Given the description of an element on the screen output the (x, y) to click on. 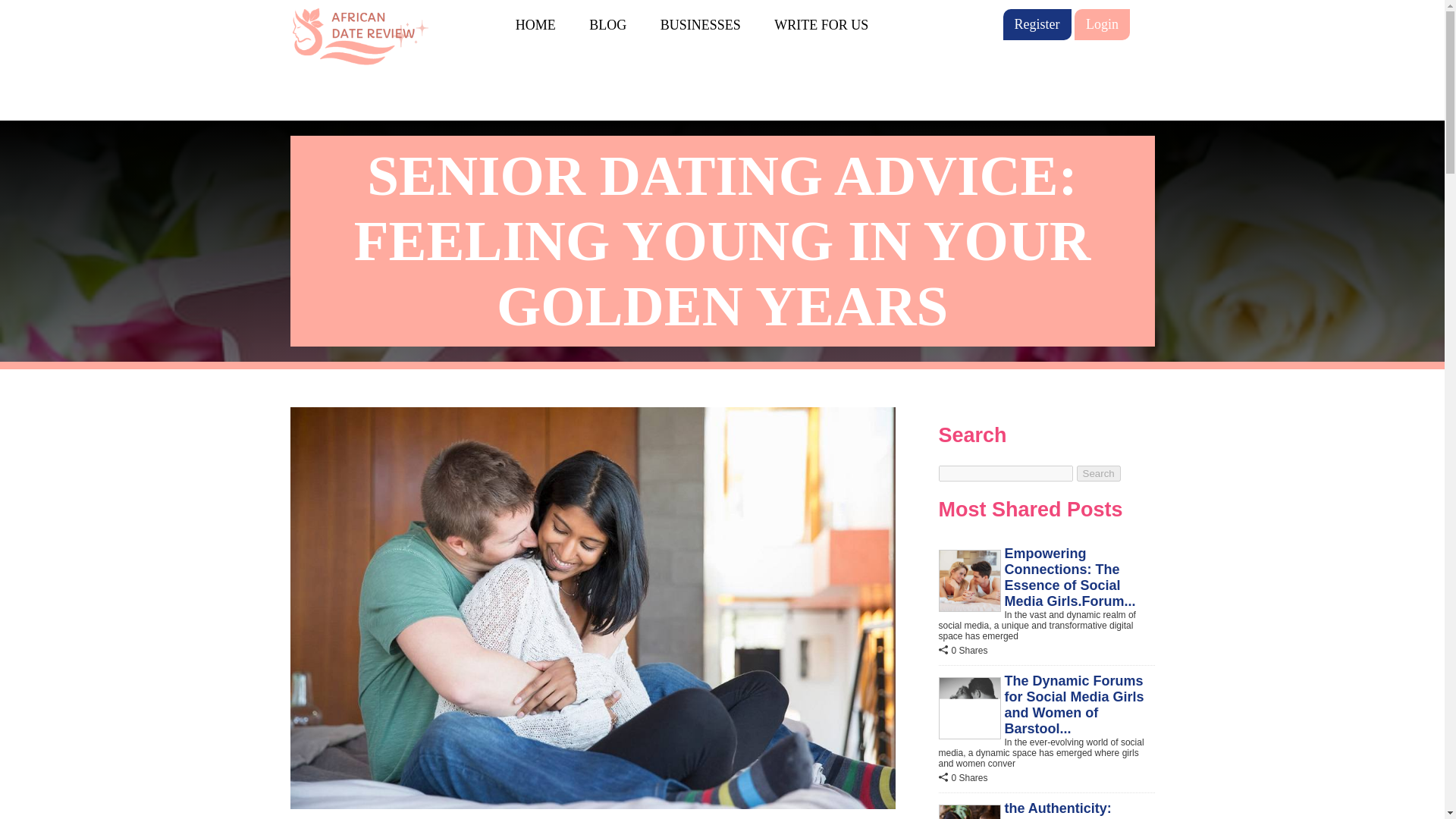
WRITE FOR US (820, 24)
HOME (535, 24)
Register (1036, 24)
Search (1099, 473)
